Given the description of an element on the screen output the (x, y) to click on. 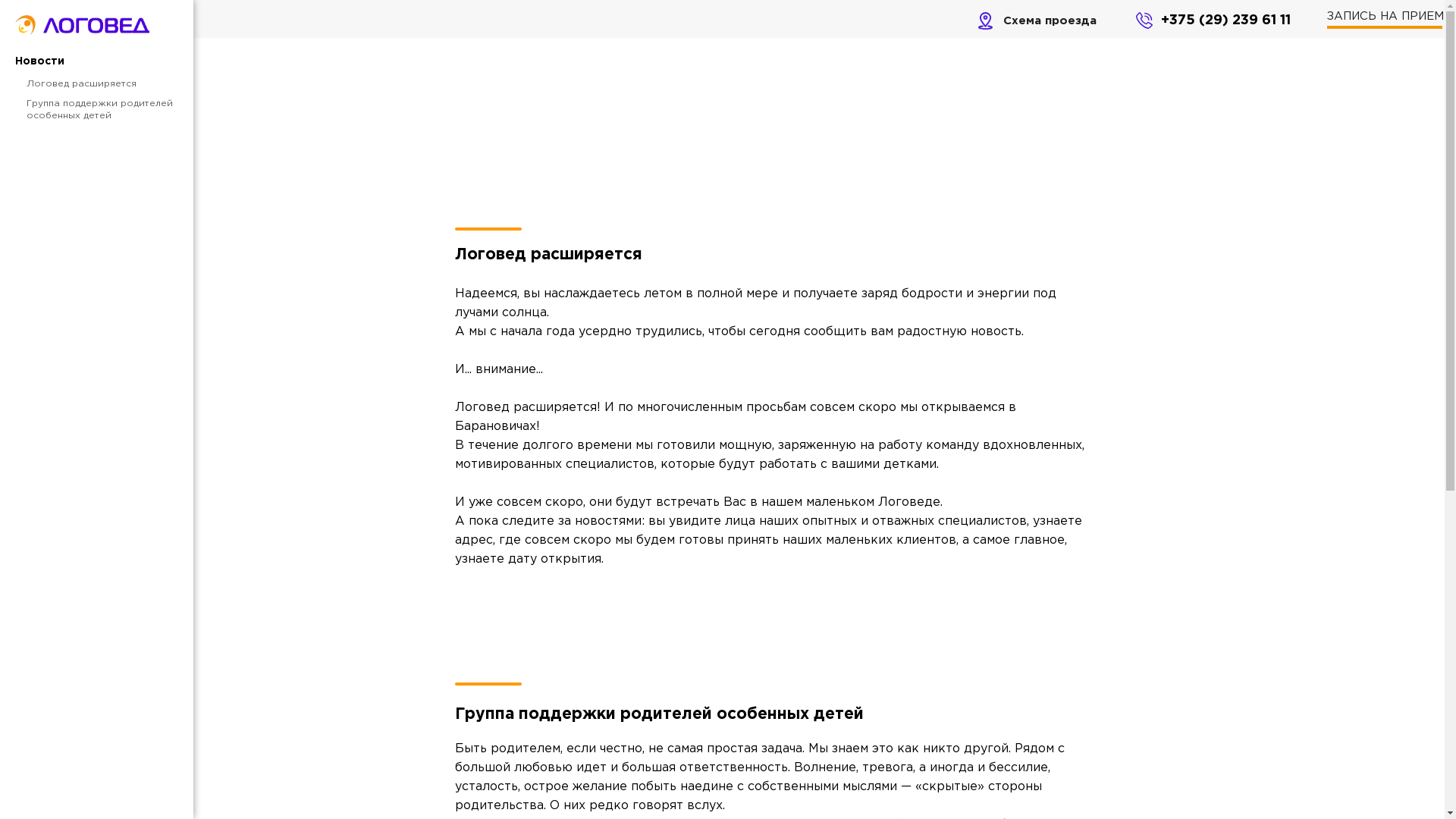
+375 (29) 239 61 11 Element type: text (1225, 20)
